Given the description of an element on the screen output the (x, y) to click on. 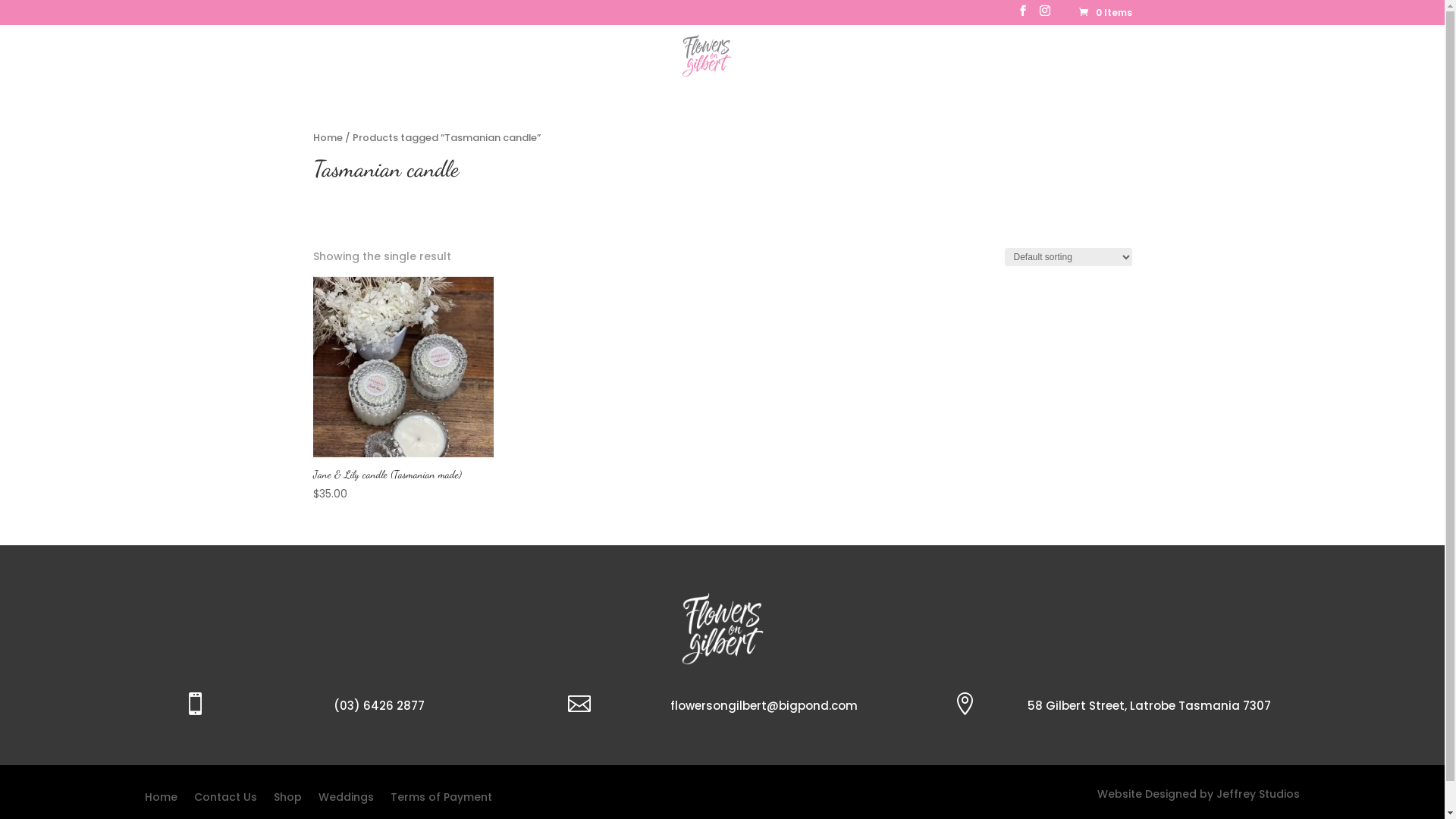
Shop Element type: text (287, 799)
Home Element type: text (327, 137)
flowers on gilbert logo Element type: hover (722, 628)
Jane & Lily candle (Tasmanian made)
$35.00 Element type: text (402, 389)
Home Element type: text (160, 799)
Weddings Element type: text (778, 67)
Website Designed by Jeffrey Studios Element type: text (1198, 793)
0 Items Element type: text (1104, 12)
Home Element type: text (569, 67)
Order Now Element type: text (634, 67)
Weddings Element type: text (345, 799)
Contact Us Element type: text (856, 67)
flowersongilbert@bigpond.com Element type: text (763, 705)
Terms of Payment Element type: text (440, 799)
Contact Us Element type: text (225, 799)
